Given the description of an element on the screen output the (x, y) to click on. 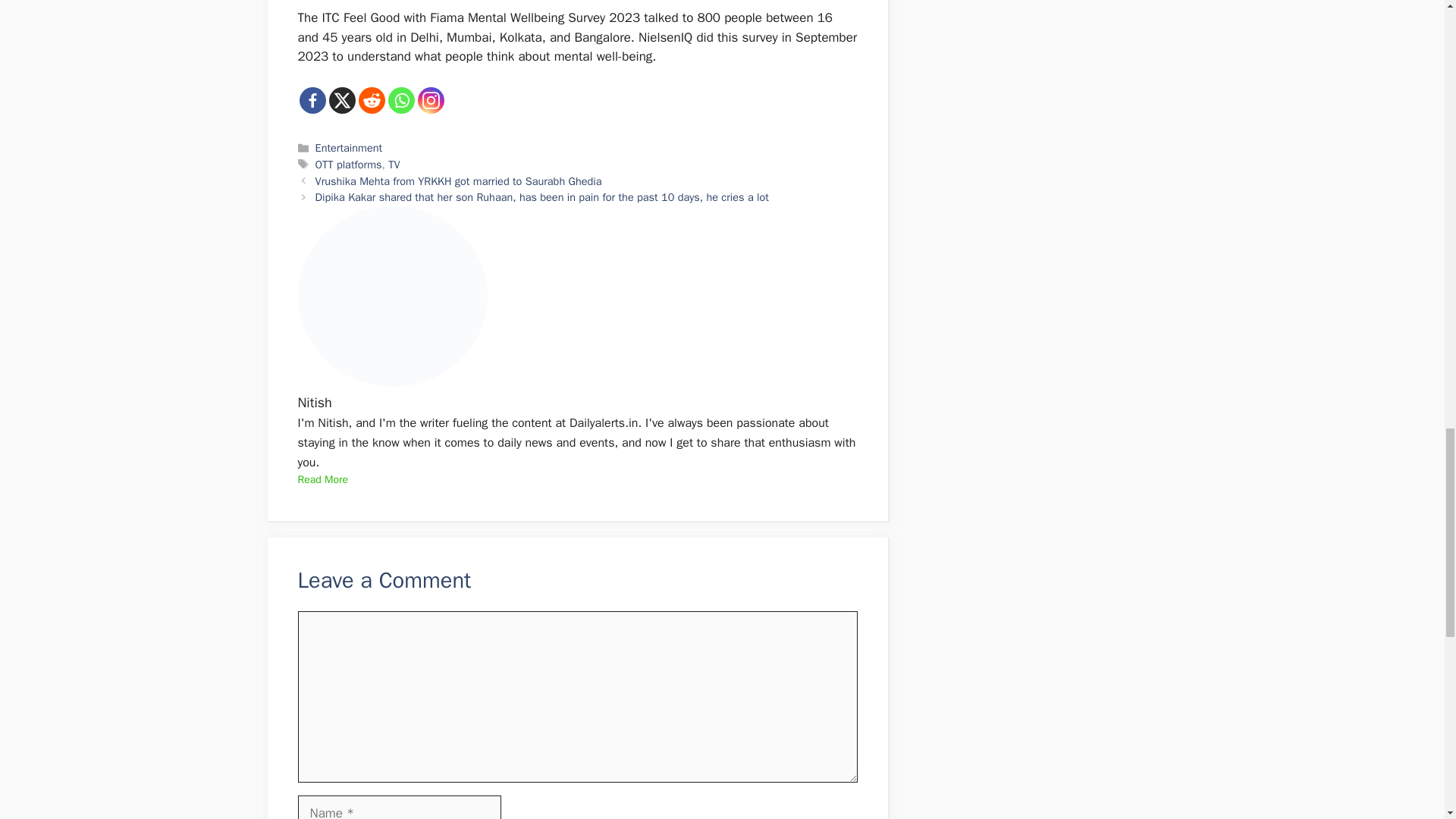
Read more about this author (322, 479)
Vrushika Mehta from YRKKH got married to Saurabh Ghedia (458, 181)
TV (393, 164)
Whatsapp (401, 99)
Entertainment (348, 147)
OTT platforms (348, 164)
Read More (322, 479)
Reddit (371, 99)
Facebook (311, 99)
X (342, 99)
Instagram (430, 99)
